Given the description of an element on the screen output the (x, y) to click on. 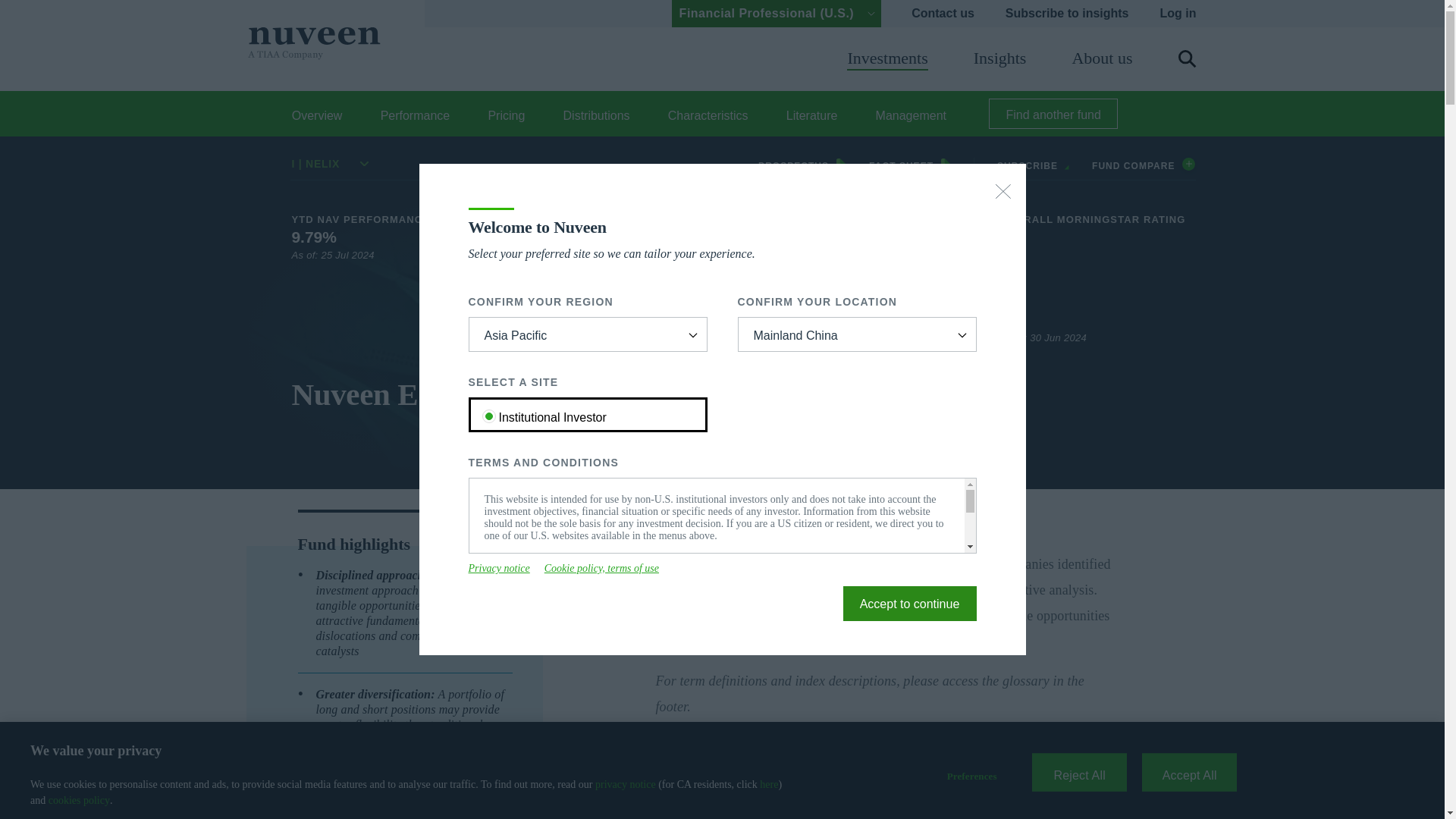
Skip to main content (236, 9)
opens in a new window (498, 568)
Subscribe to insights (1067, 13)
opens in a new window (909, 164)
Contact us (942, 13)
Log in (1178, 13)
opens in the same window (909, 603)
opens in a new window (801, 164)
opens in a new window (601, 568)
